Given the description of an element on the screen output the (x, y) to click on. 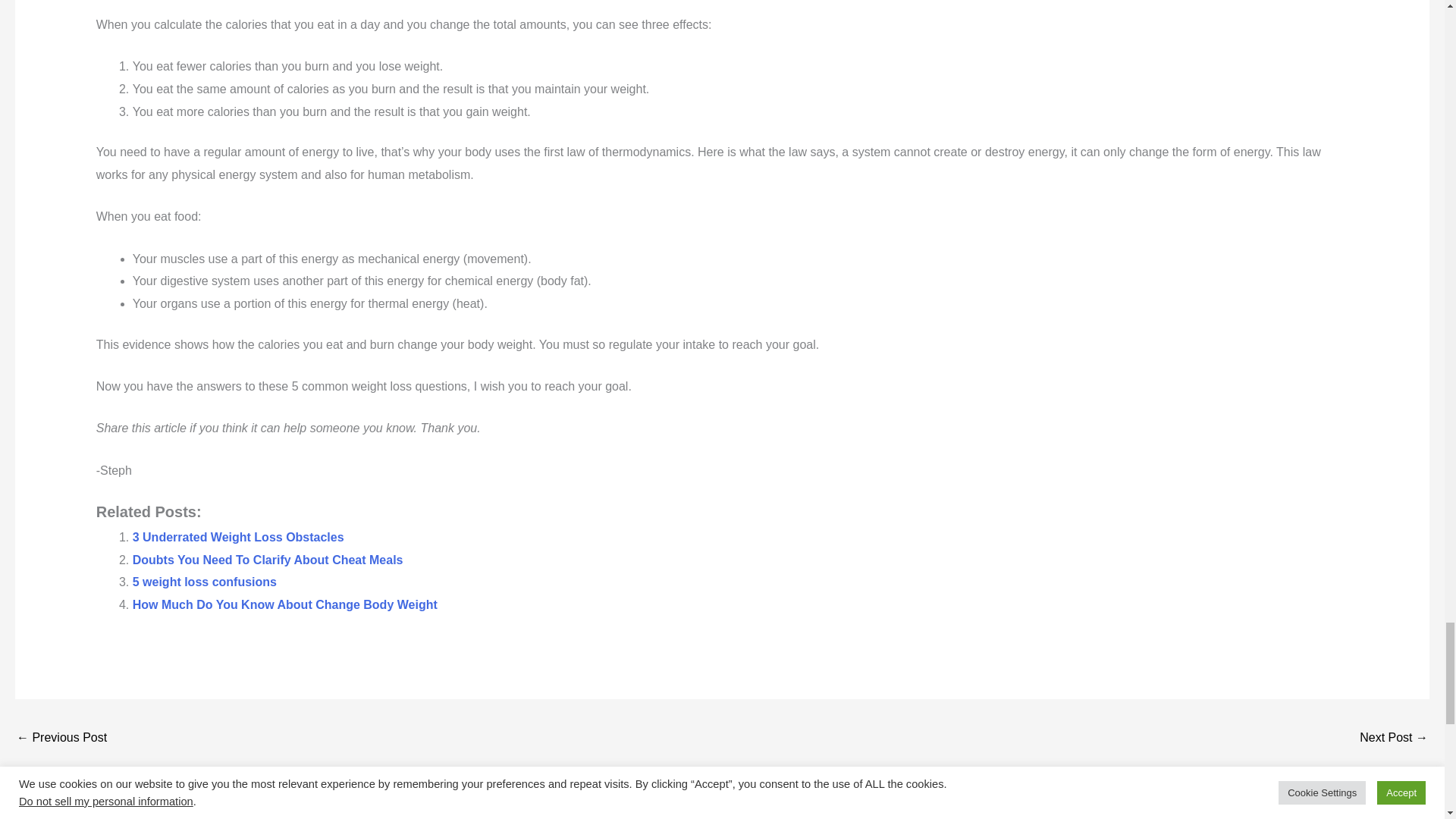
How Much Do You Know About Change Body Weight (285, 604)
Doubts You Need To Clarify About Cheat Meals (267, 559)
5 weight loss confusions (204, 581)
How I Track My Body Progress 2020-02 (61, 738)
Doubts You Need To Clarify About Cheat Meals (267, 559)
3 Fast Fat Loss Facts (1393, 738)
3 Underrated Weight Loss Obstacles (237, 536)
3 Underrated Weight Loss Obstacles (237, 536)
5 weight loss confusions (204, 581)
How Much Do You Know About Change Body Weight (285, 604)
